Given the description of an element on the screen output the (x, y) to click on. 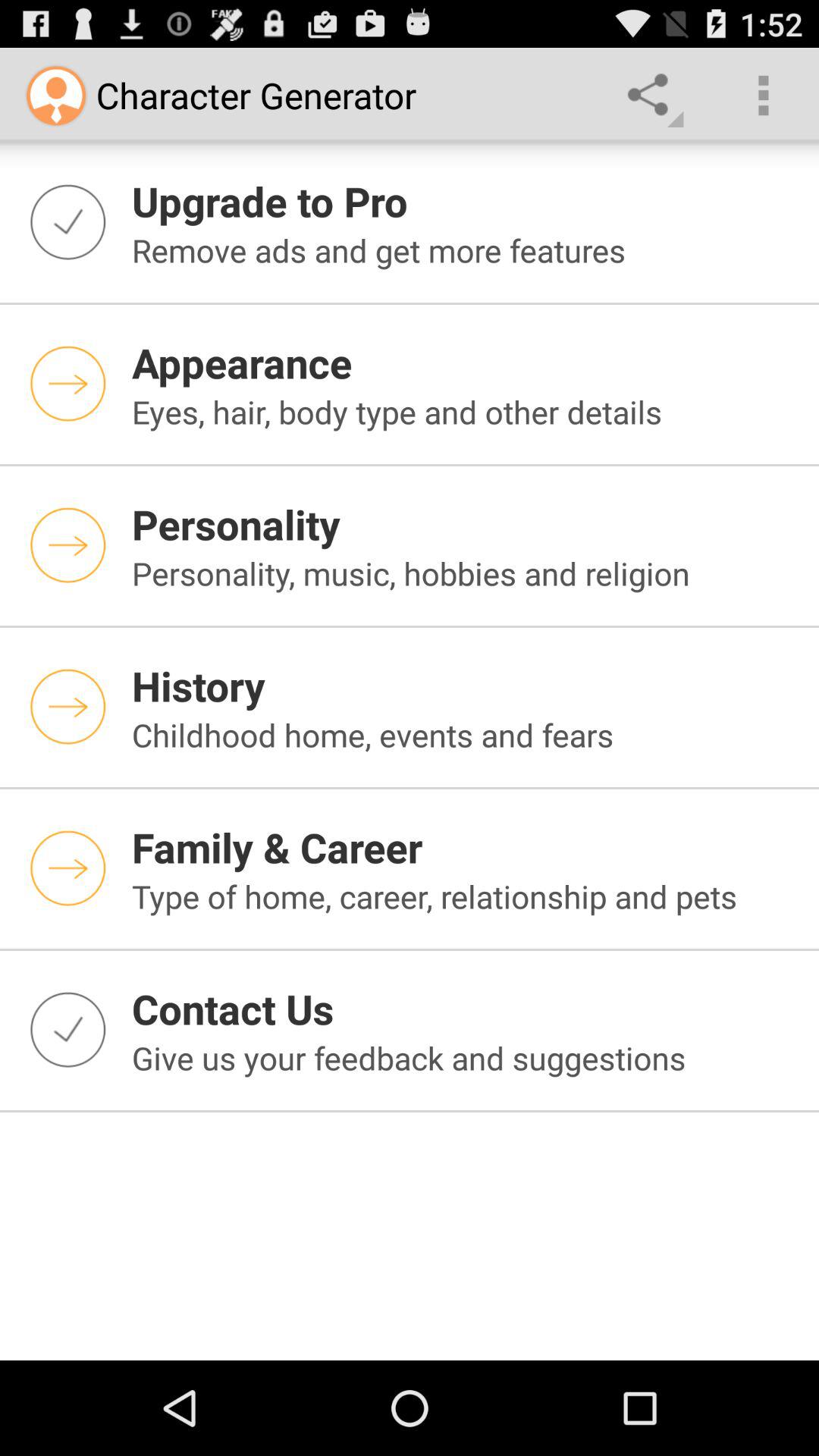
open the icon above the eyes hair body app (465, 362)
